Given the description of an element on the screen output the (x, y) to click on. 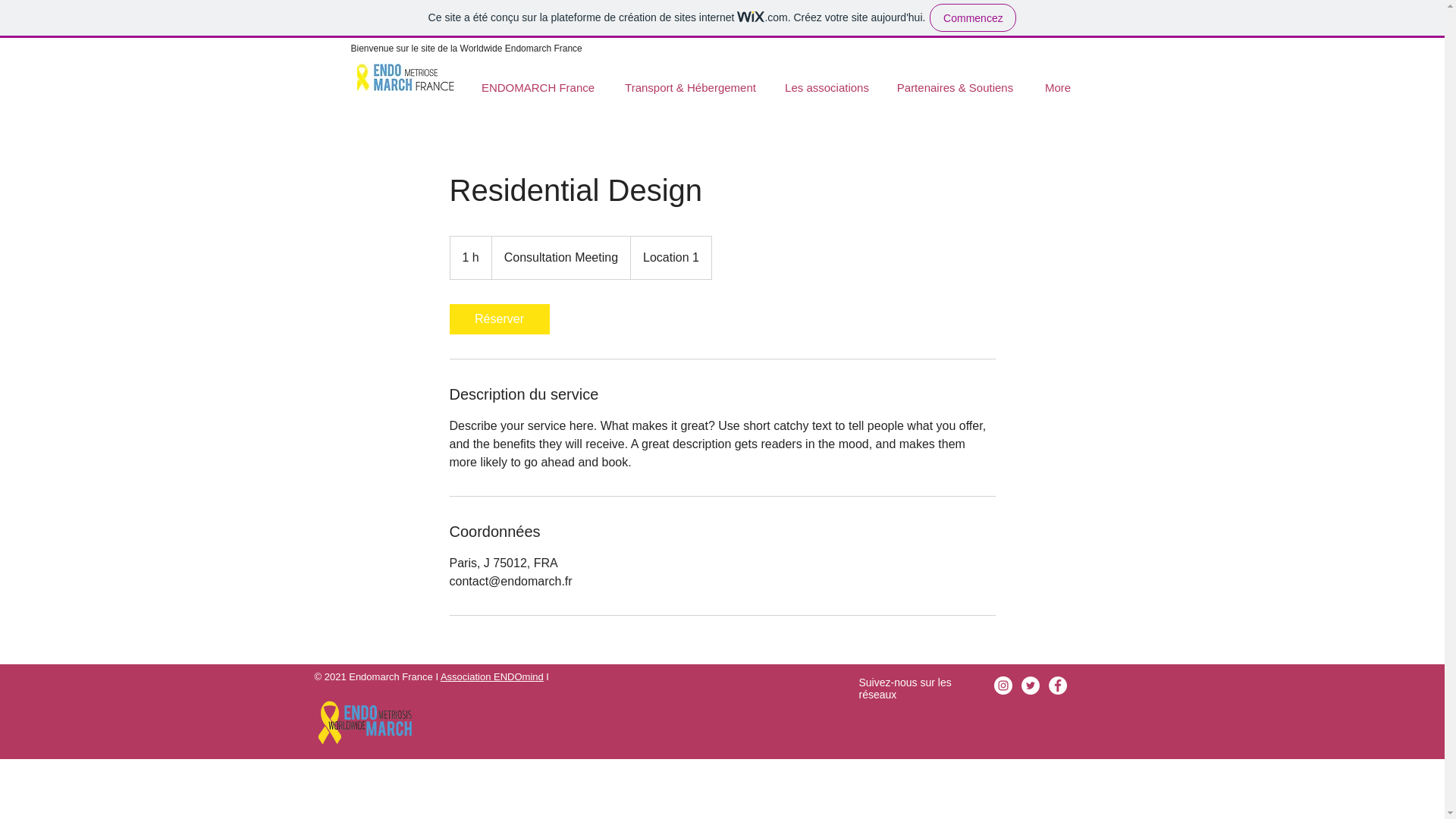
ENDOMARCH France (538, 80)
Association ENDOmind (492, 676)
Les associations (826, 80)
